Given the description of an element on the screen output the (x, y) to click on. 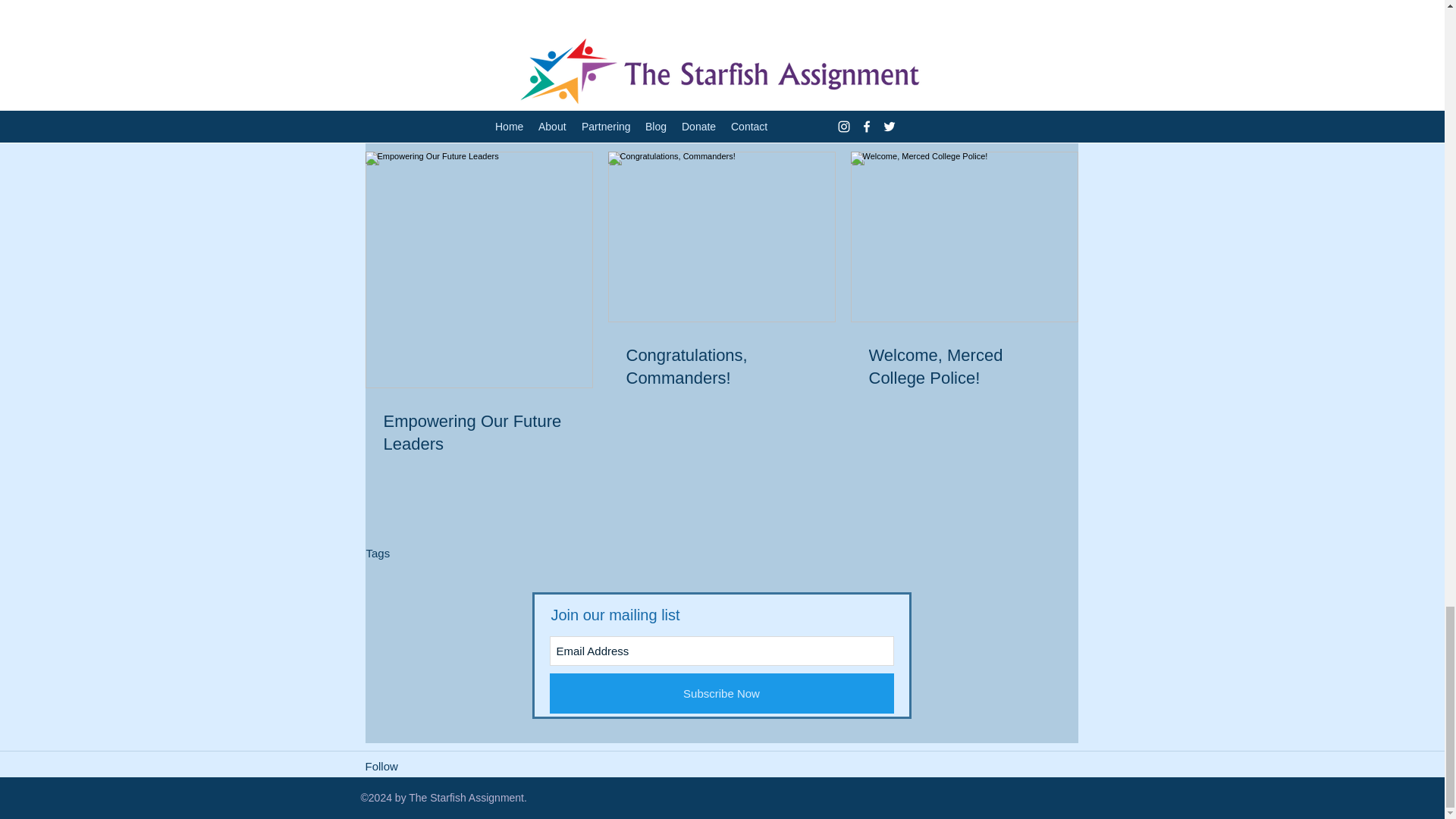
Post not marked as liked (995, 220)
Congratulations, Commanders! (721, 367)
Empowering Our Future Leaders (479, 433)
Subscribe Now (720, 693)
Welcome, Merced College Police! (964, 367)
